Given the description of an element on the screen output the (x, y) to click on. 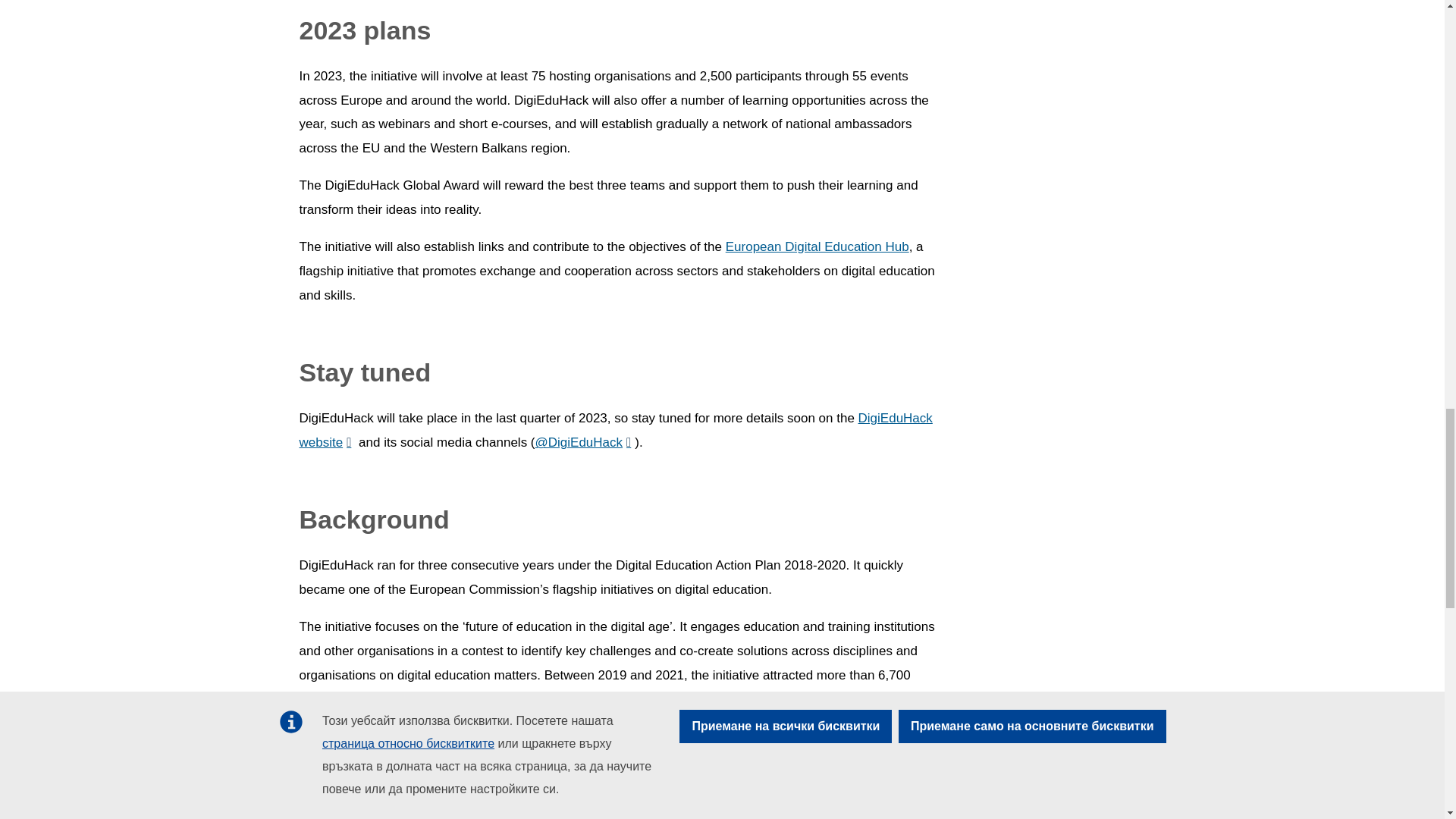
DigiEduHack website (614, 430)
European Digital Education Hub (816, 246)
